Given the description of an element on the screen output the (x, y) to click on. 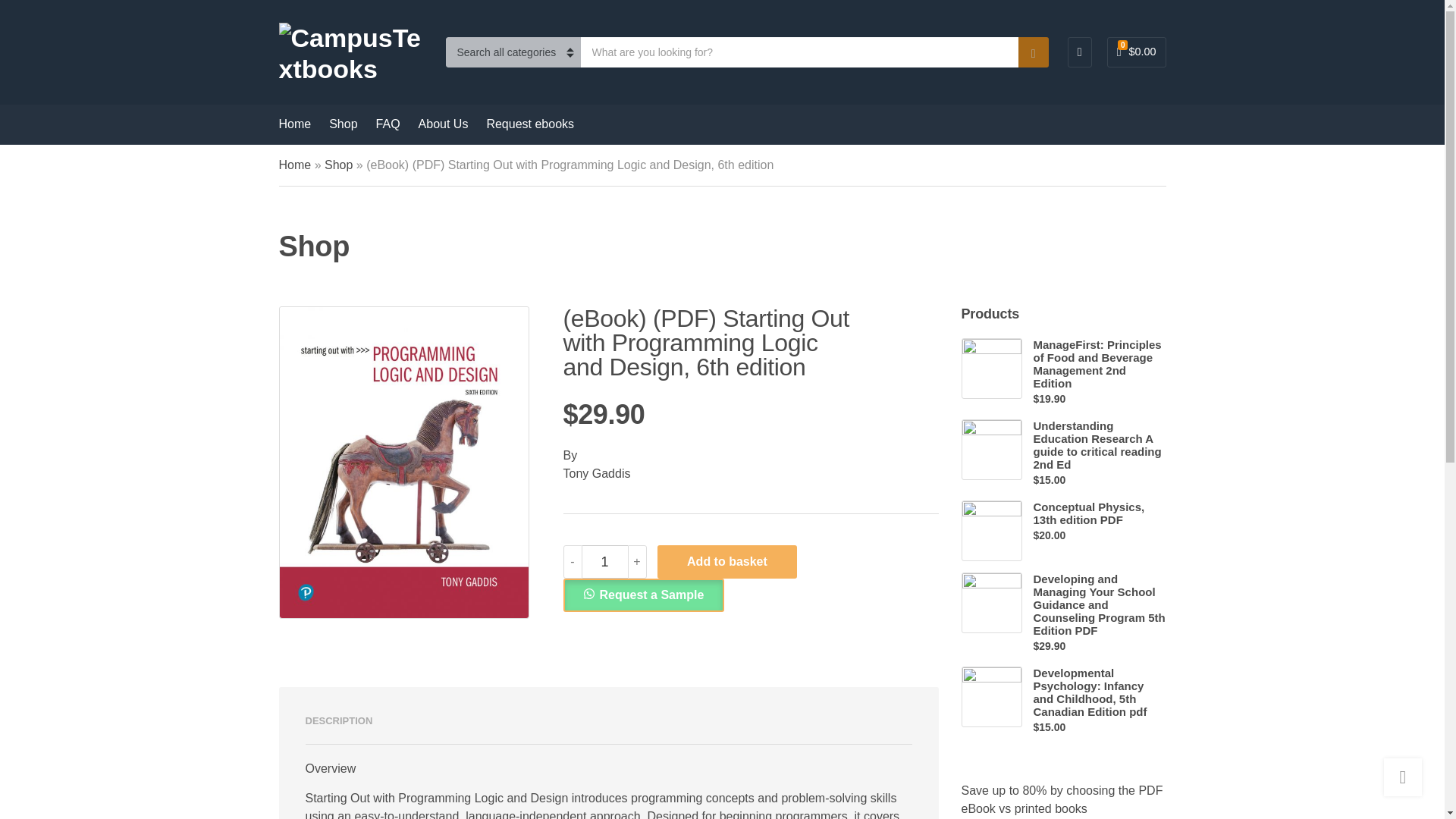
1 (604, 561)
Conceptual Physics, 13th edition PDF (1099, 513)
Search (1032, 51)
About Us (443, 124)
DESCRIPTION (338, 720)
Request a Sample (642, 594)
